Given the description of an element on the screen output the (x, y) to click on. 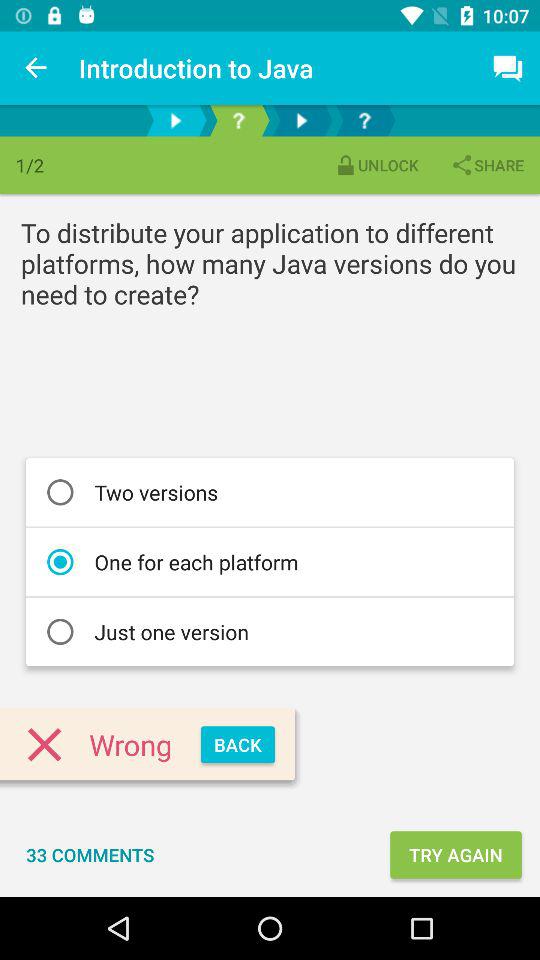
next (301, 120)
